Given the description of an element on the screen output the (x, y) to click on. 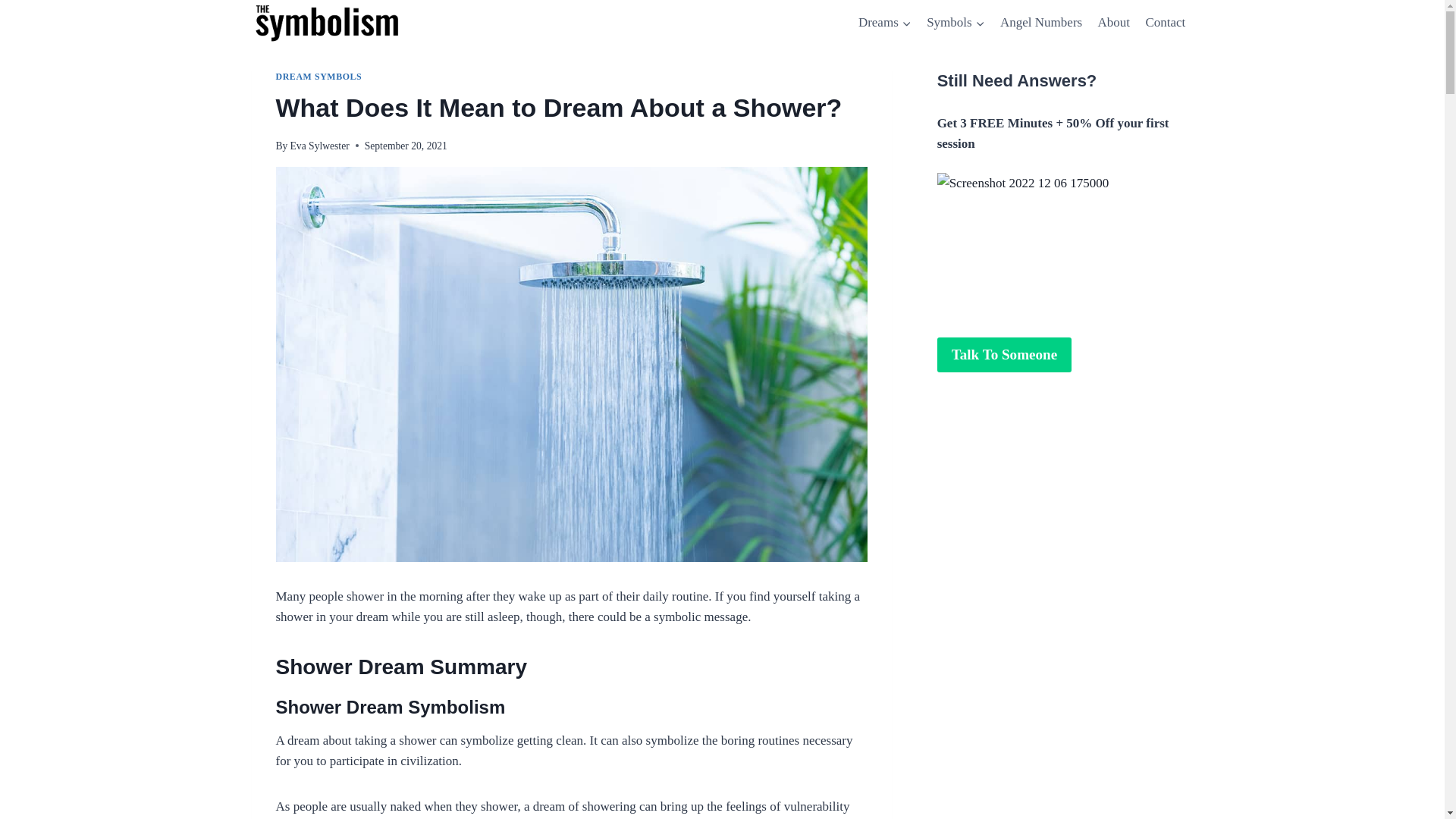
Angel Numbers (1041, 22)
Contact (1164, 22)
Talk To Someone (1004, 354)
Symbols (955, 22)
About (1113, 22)
Eva Sylwester (319, 145)
Dreams (884, 22)
DREAM SYMBOLS (319, 76)
